Given the description of an element on the screen output the (x, y) to click on. 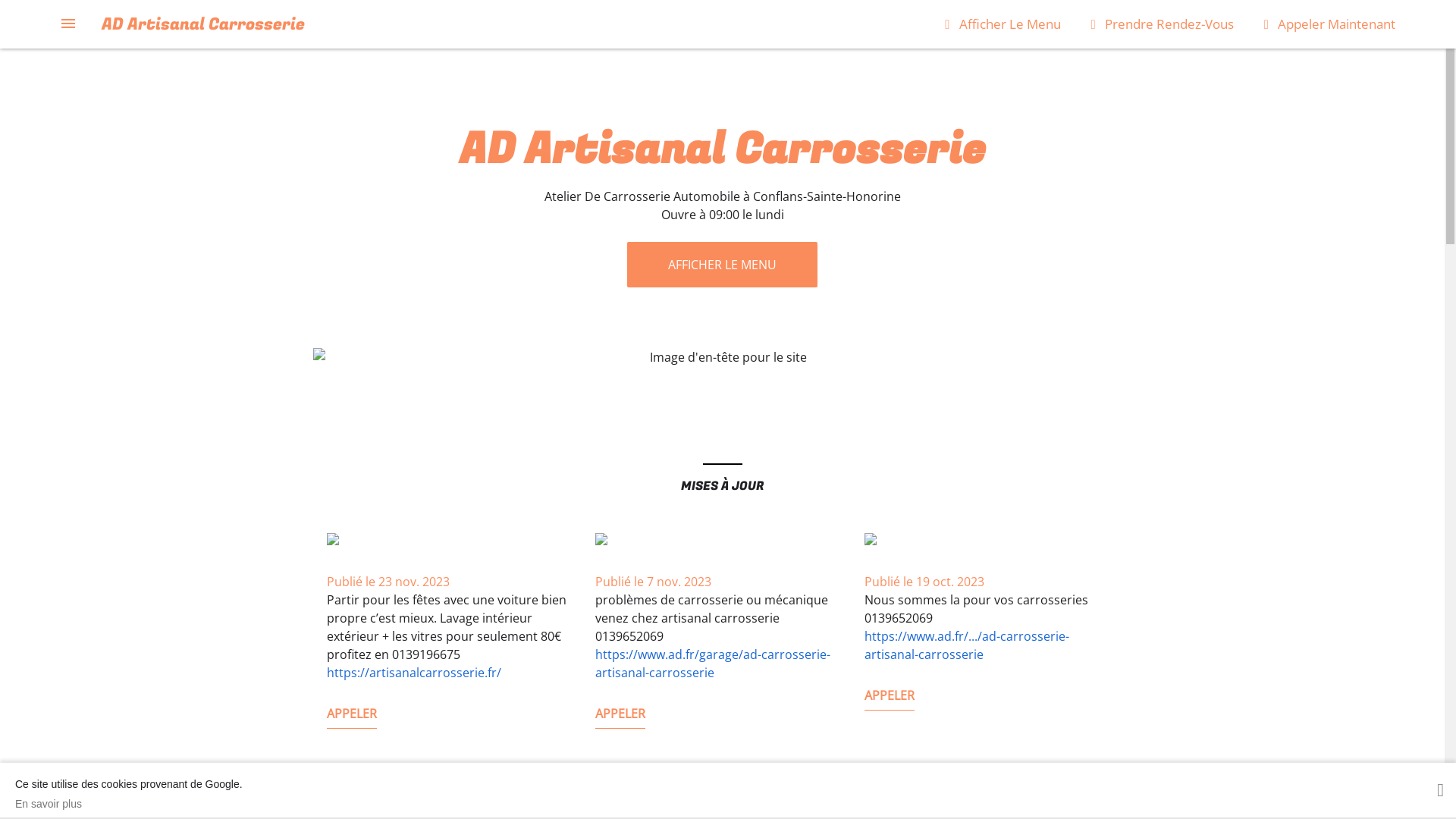
En savoir plus Element type: text (128, 803)
AD Artisanal Carrosserie Element type: text (202, 24)
APPELER Element type: text (889, 698)
APPELER Element type: text (351, 716)
AFFICHER LE MENU Element type: text (722, 264)
https://artisanalcarrosserie.fr/ Element type: text (413, 672)
https://www.ad.fr/.../ad-carrosserie-artisanal-carrosserie Element type: text (966, 644)
APPELER Element type: text (620, 716)
